Given the description of an element on the screen output the (x, y) to click on. 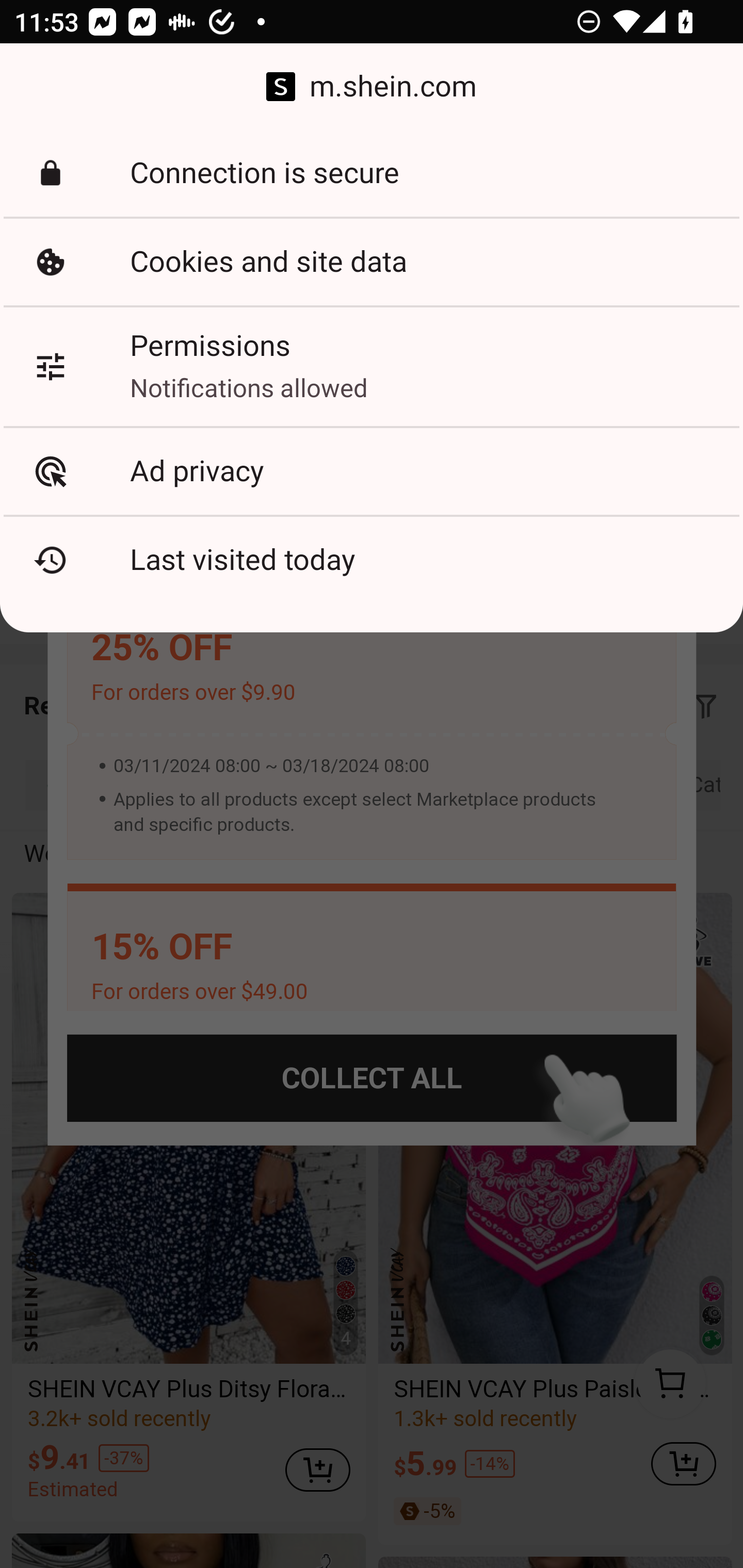
m.shein.com (371, 86)
Connection is secure (371, 173)
Cookies and site data (371, 261)
Permissions Notifications allowed (371, 366)
Ad privacy (371, 471)
Last visited today (371, 560)
